Given the description of an element on the screen output the (x, y) to click on. 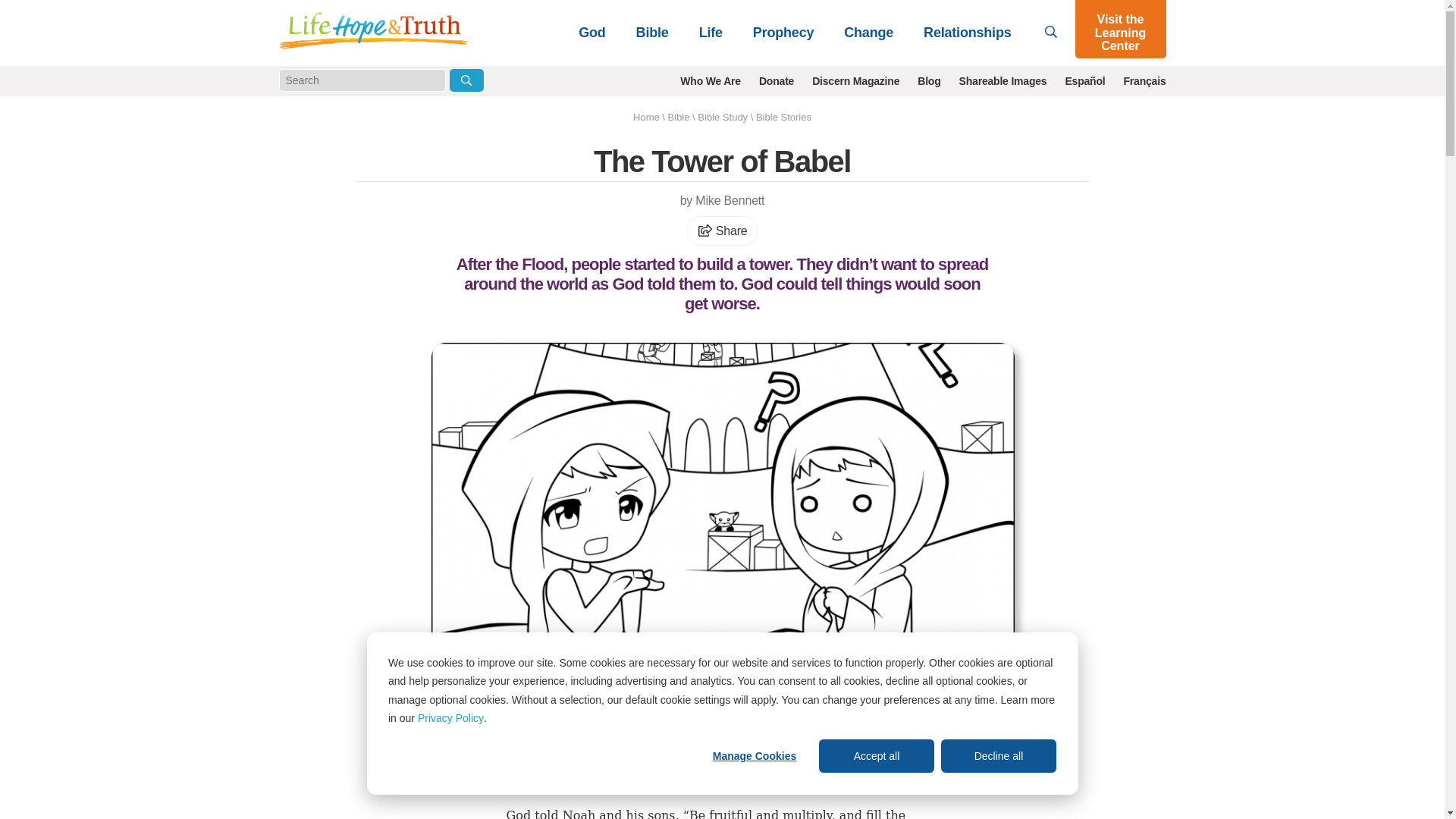
Bible (652, 32)
God (591, 32)
Life (711, 32)
